Given the description of an element on the screen output the (x, y) to click on. 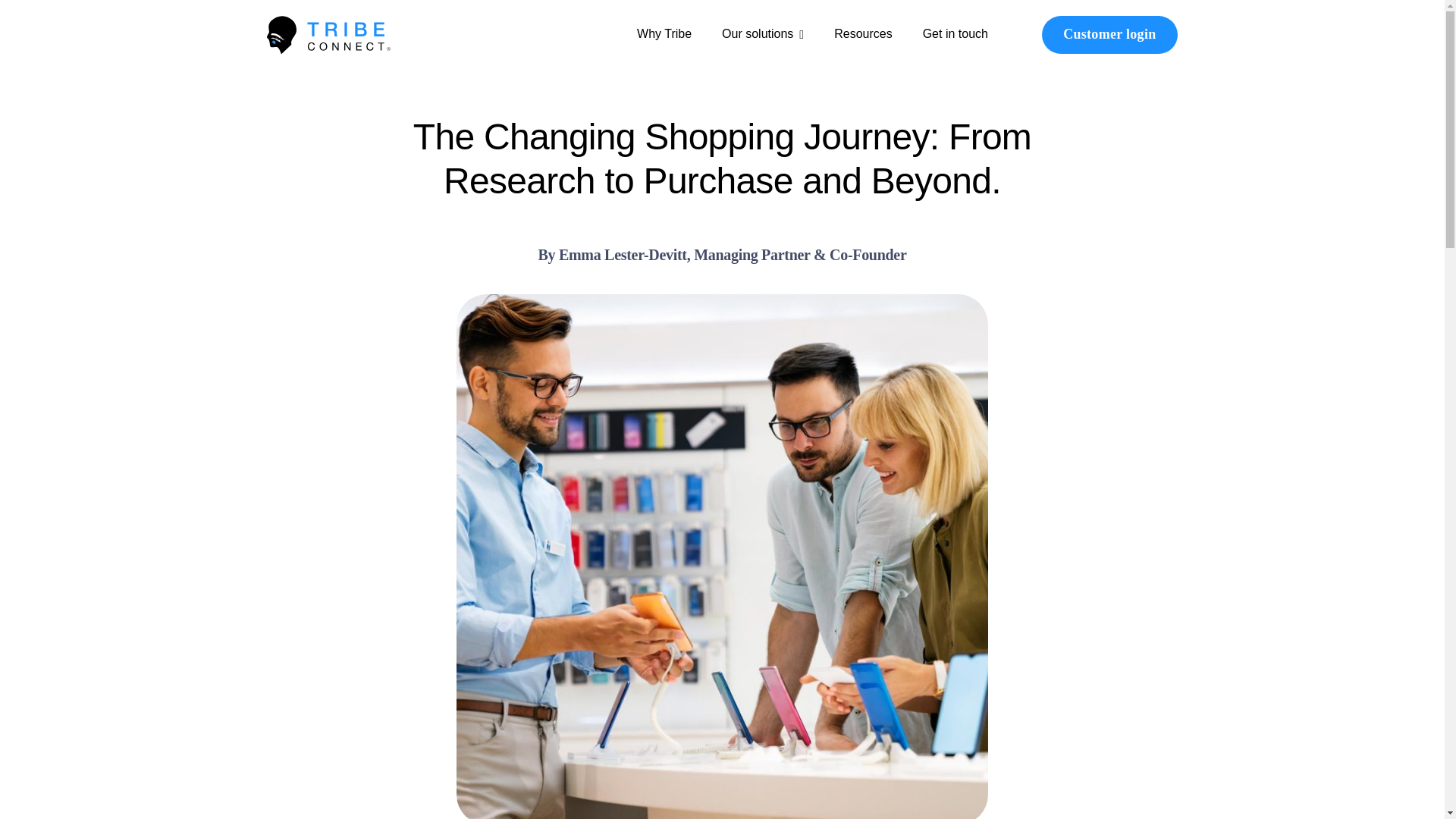
Customer login (1109, 34)
Get in touch (955, 34)
Why Tribe (664, 34)
Our solutions (762, 34)
Resources (862, 34)
